Given the description of an element on the screen output the (x, y) to click on. 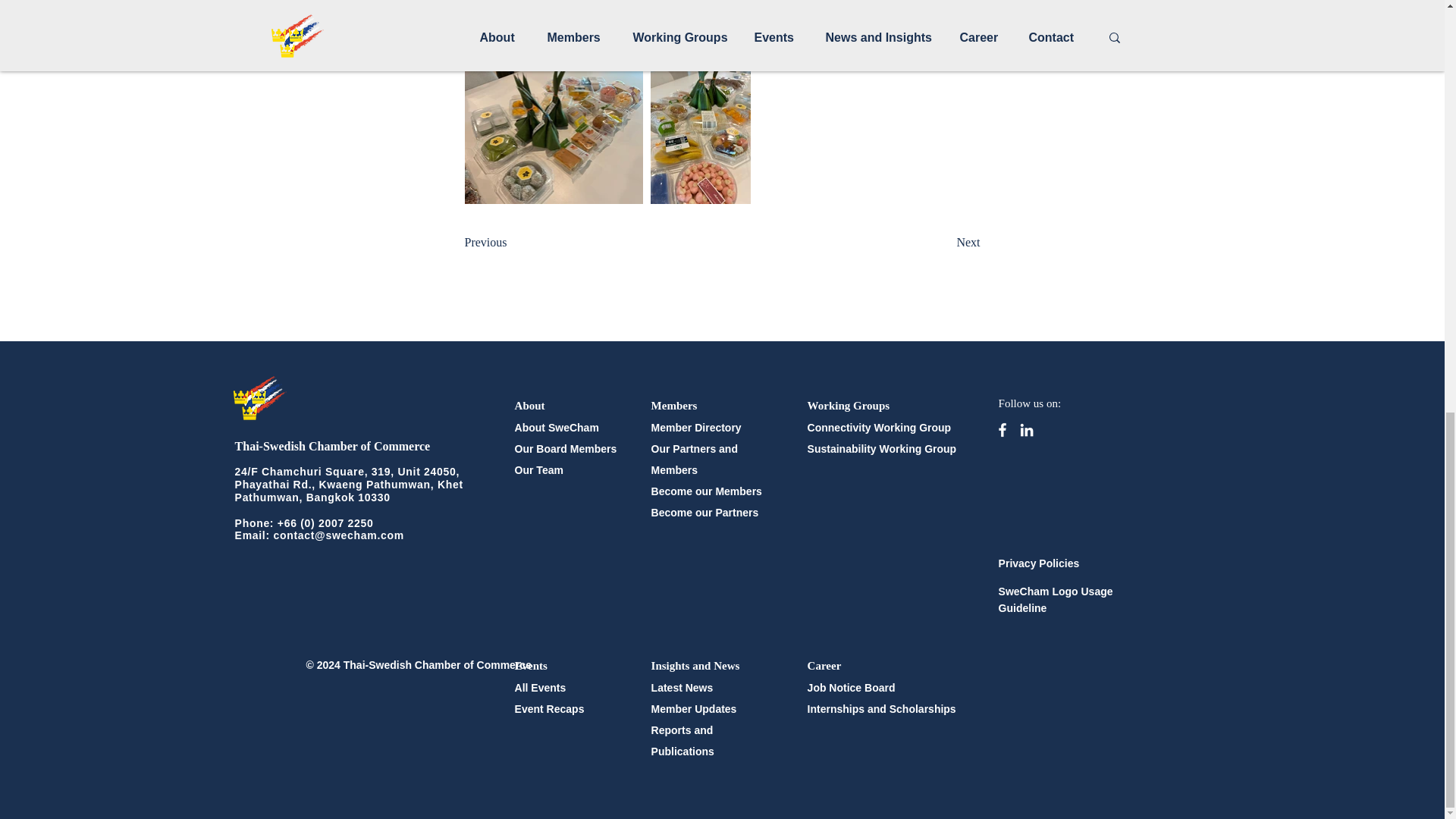
Become our Members (705, 491)
Member Directory (695, 427)
Privacy Policies (1039, 563)
Previous (514, 242)
SweCham Logo Usage Guideline (1055, 599)
Our Team (539, 469)
About SweCham (556, 427)
Our Partners and Members (694, 459)
Working Groups (848, 404)
Next (941, 242)
Sustainability Working Group (882, 449)
Become our Partners (704, 512)
Our Board Members (566, 449)
Connectivity Working Group (880, 427)
cham.com (375, 535)
